Given the description of an element on the screen output the (x, y) to click on. 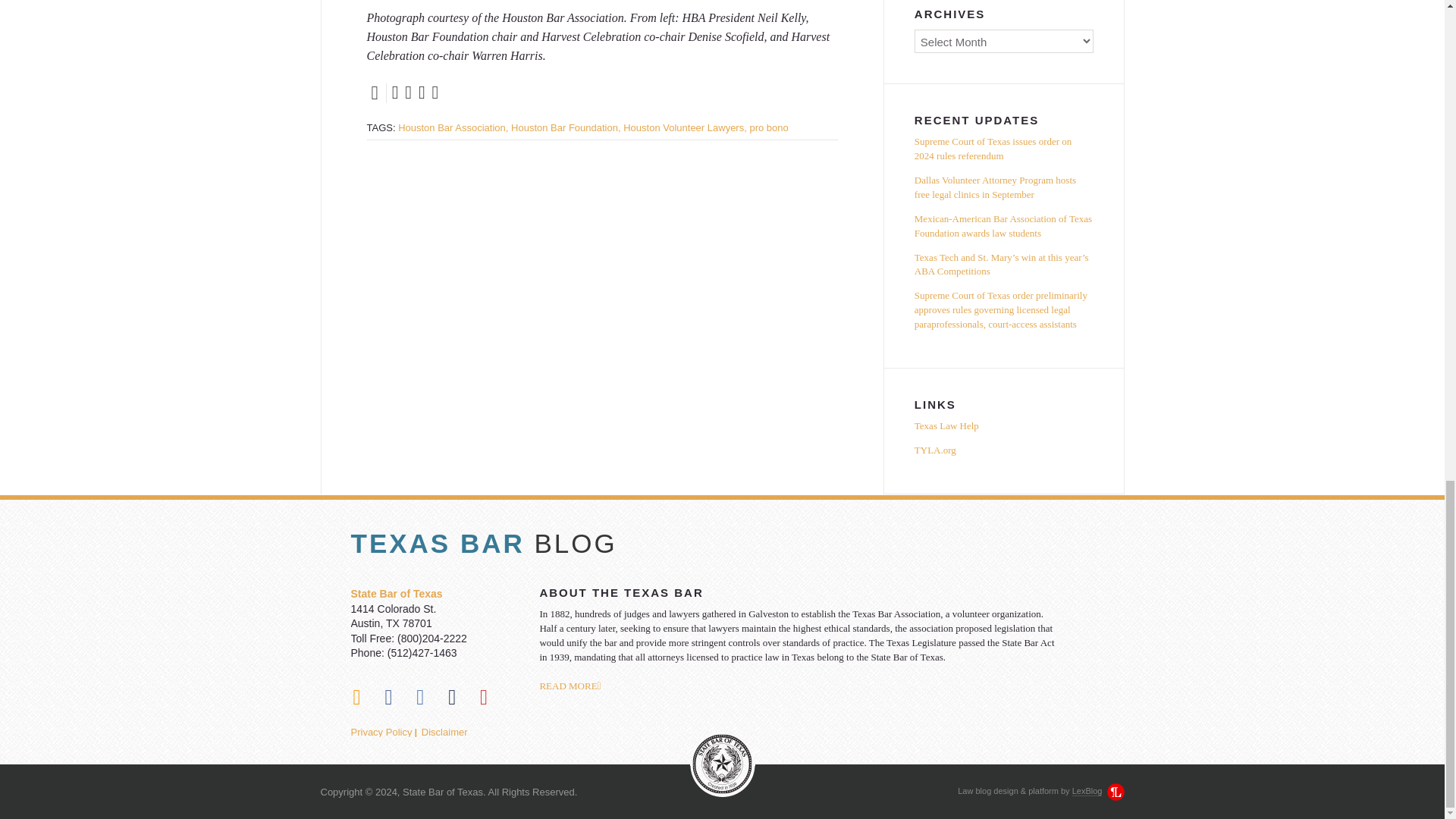
pro bono (768, 127)
Houston Volunteer Lawyers, (684, 127)
Houston Bar Association, (452, 127)
Supreme Court of Texas issues order on 2024 rules referendum (1003, 151)
Houston Bar Foundation, (566, 127)
